Given the description of an element on the screen output the (x, y) to click on. 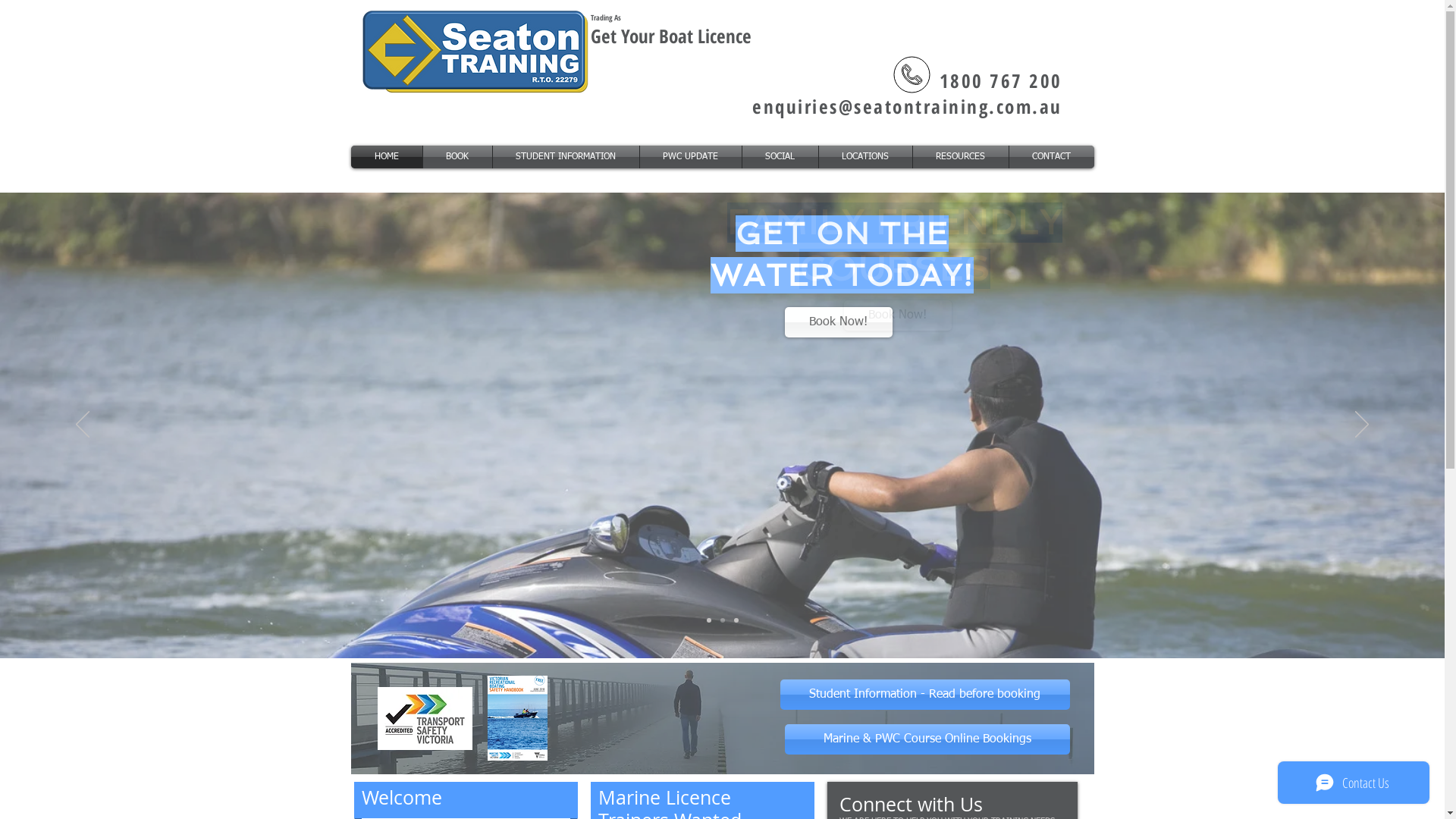
RESOURCES Element type: text (960, 156)
STUDENT INFORMATION Element type: text (565, 156)
Marine & PWC Course Online Bookings Element type: text (926, 739)
SOCIAL Element type: text (779, 156)
CONTACT Element type: text (1050, 156)
Book Now! Element type: text (896, 315)
Student Information - Read before booking Element type: text (924, 694)
BOOK Element type: text (457, 156)
PWC UPDATE Element type: text (690, 156)
Embedded Content Element type: hover (642, 83)
HOME Element type: text (385, 156)
Book Now! Element type: text (837, 322)
enquiries@seatontraining.com.au Element type: text (907, 106)
